Given the description of an element on the screen output the (x, y) to click on. 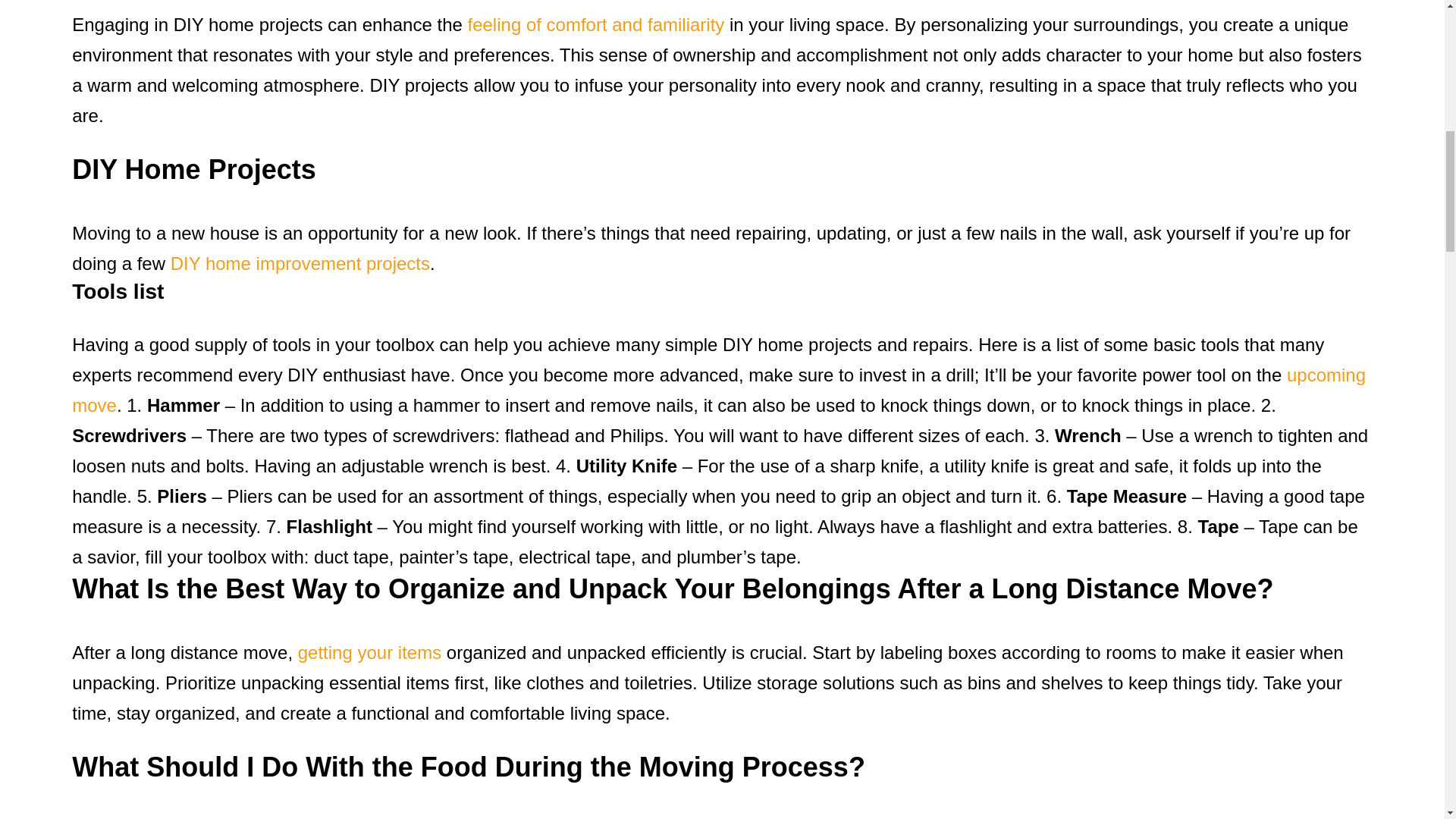
getting your items (369, 652)
DIY Home Improvement Projects (299, 263)
feeling of comfort and familiarity (595, 24)
Upcoming Move (718, 389)
upcoming move (718, 389)
DIY home improvement projects (299, 263)
